Given the description of an element on the screen output the (x, y) to click on. 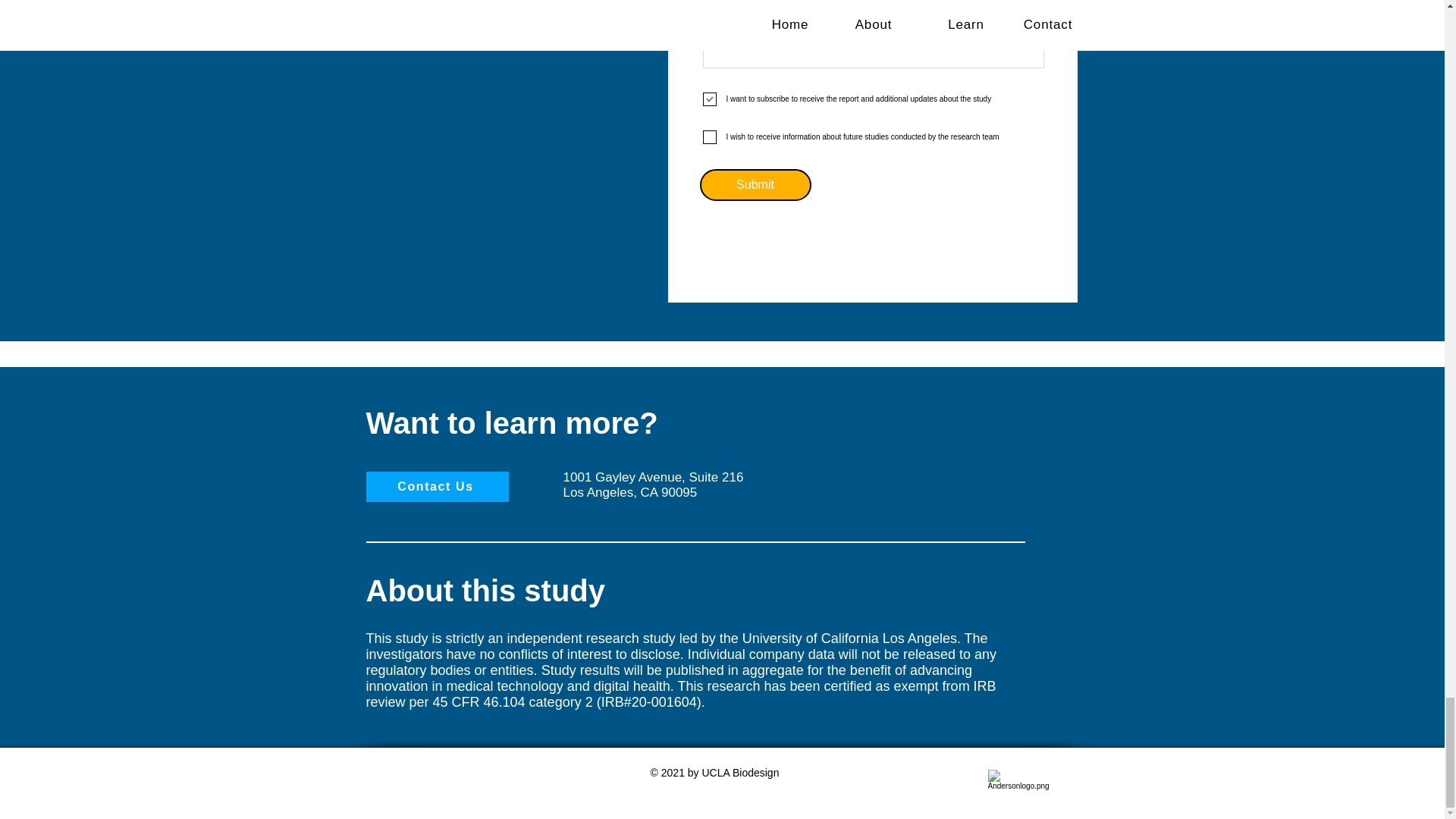
Contact Us (436, 486)
Submit (754, 184)
